Given the description of an element on the screen output the (x, y) to click on. 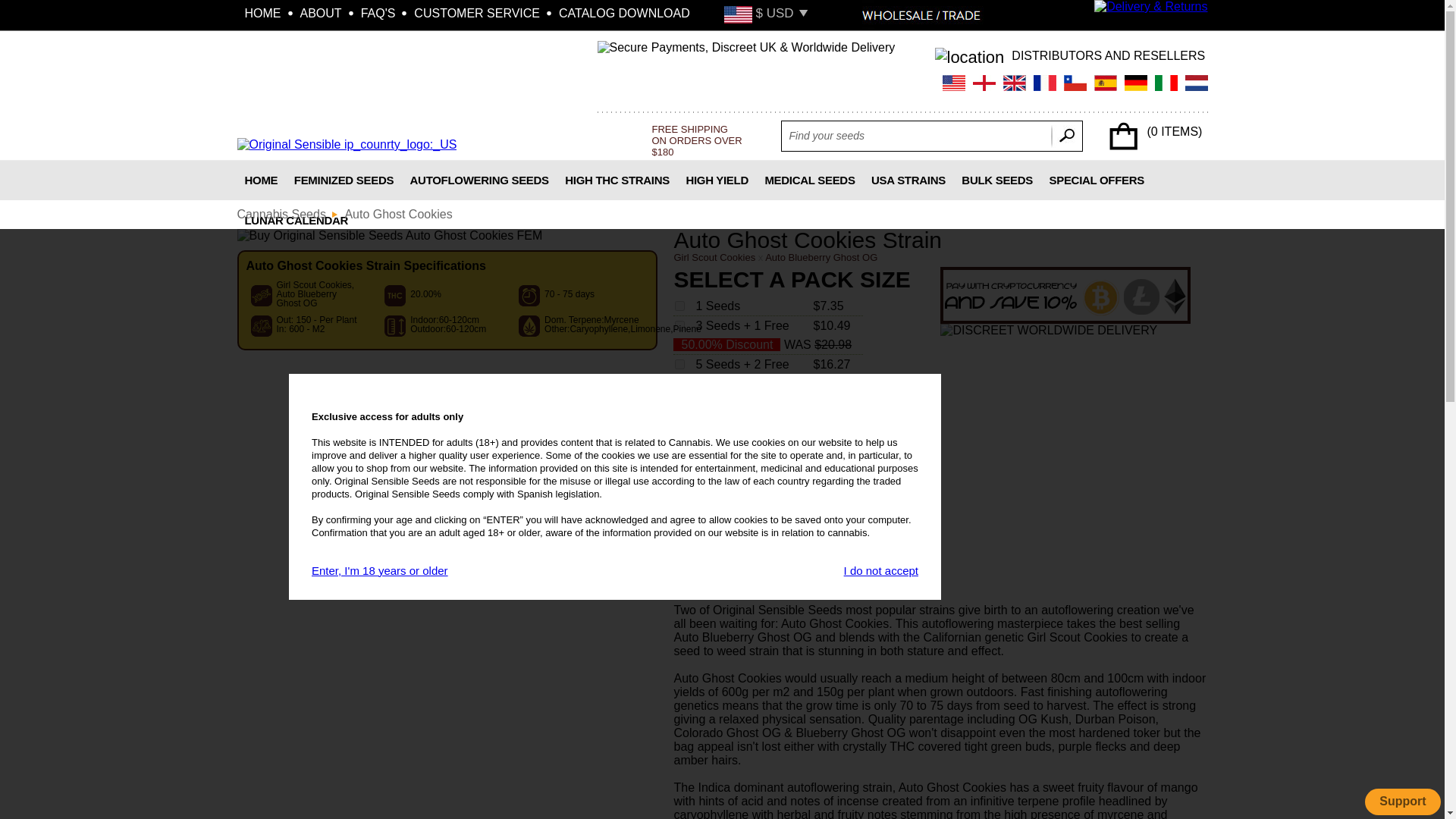
MEDICAL SEEDS (809, 179)
Original Sensible (346, 144)
FAQ'S (380, 13)
Feminized Seeds (343, 179)
HIGH YIELD (716, 179)
HOME (263, 13)
FEMINIZED SEEDS (343, 179)
DISTRIBUTORS AND RESELLERS (1108, 55)
CUSTOMER SERVICE (478, 13)
English (1014, 82)
